Given the description of an element on the screen output the (x, y) to click on. 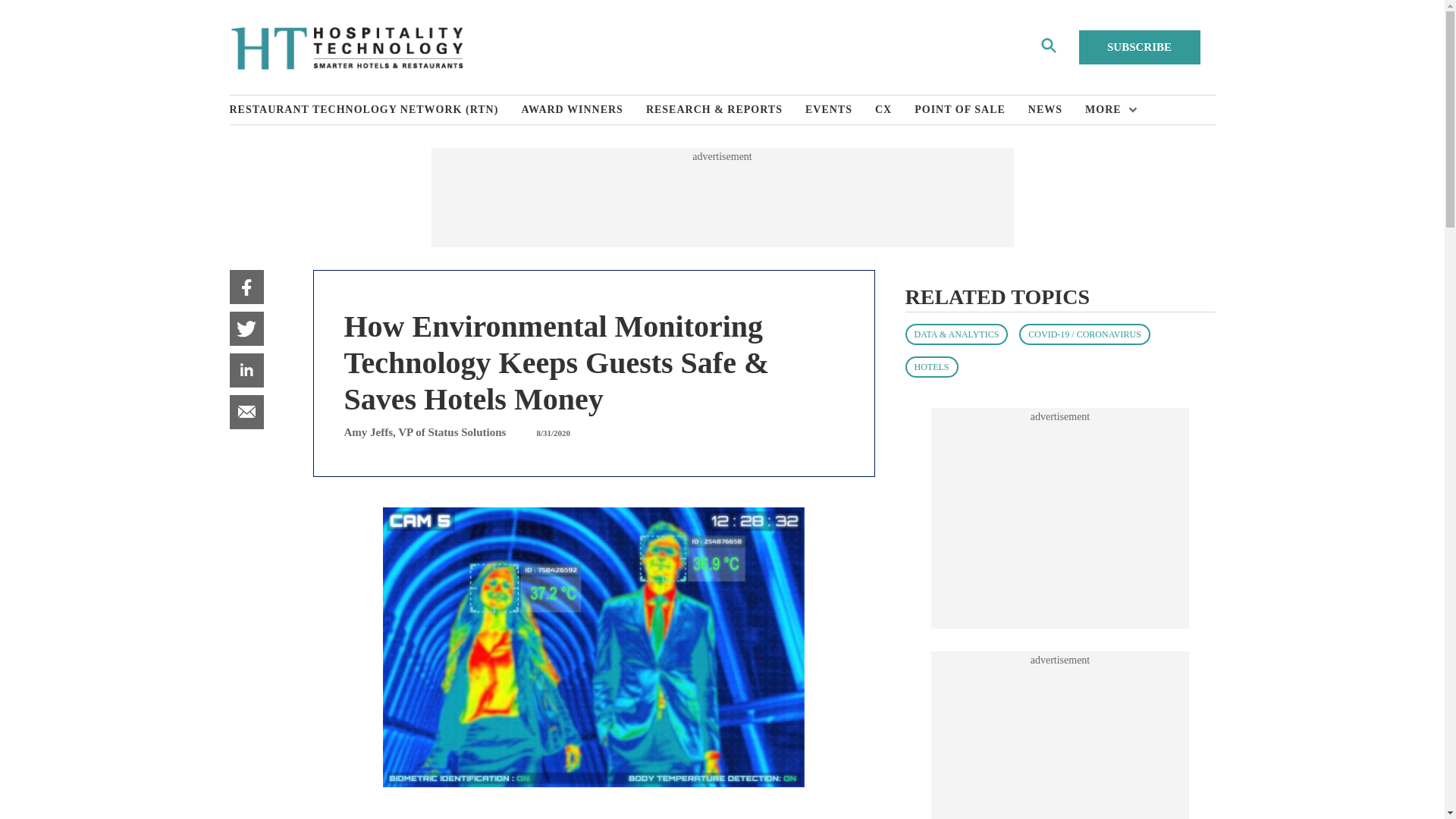
SUBSCRIBE (1138, 47)
CX (894, 109)
linkedIn (245, 369)
email (245, 411)
linkedIn (245, 369)
MORE (1106, 109)
twitter (245, 328)
facebook (245, 286)
NEWS (1055, 109)
EVENTS (840, 109)
